Given the description of an element on the screen output the (x, y) to click on. 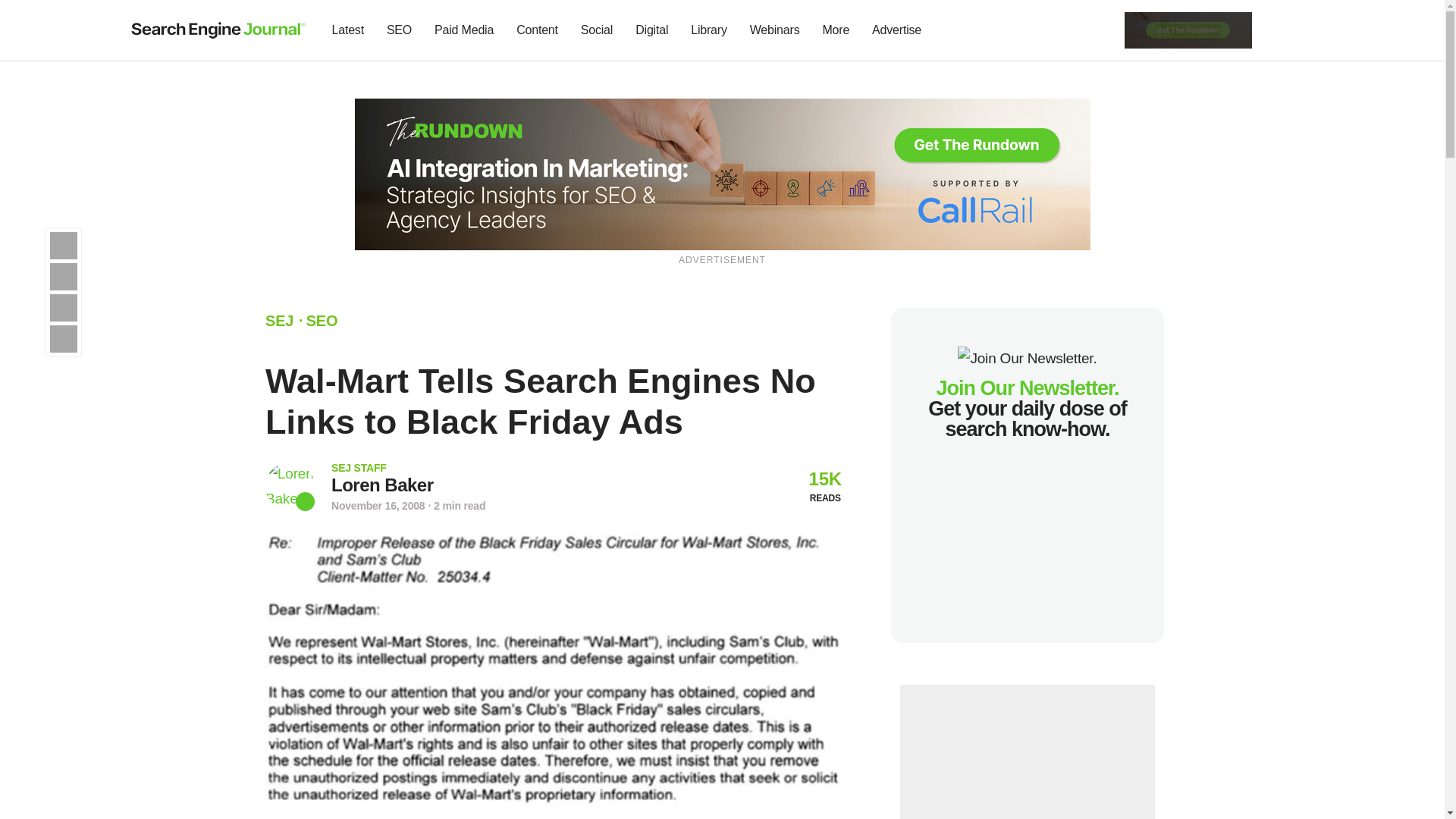
Get The Rundown (722, 172)
Get The Rundown (1187, 28)
Latest (347, 30)
Go to Author Page (289, 486)
Subscribe to our Newsletter (1277, 30)
Paid Media (464, 30)
Go to Author Page (382, 485)
